Given the description of an element on the screen output the (x, y) to click on. 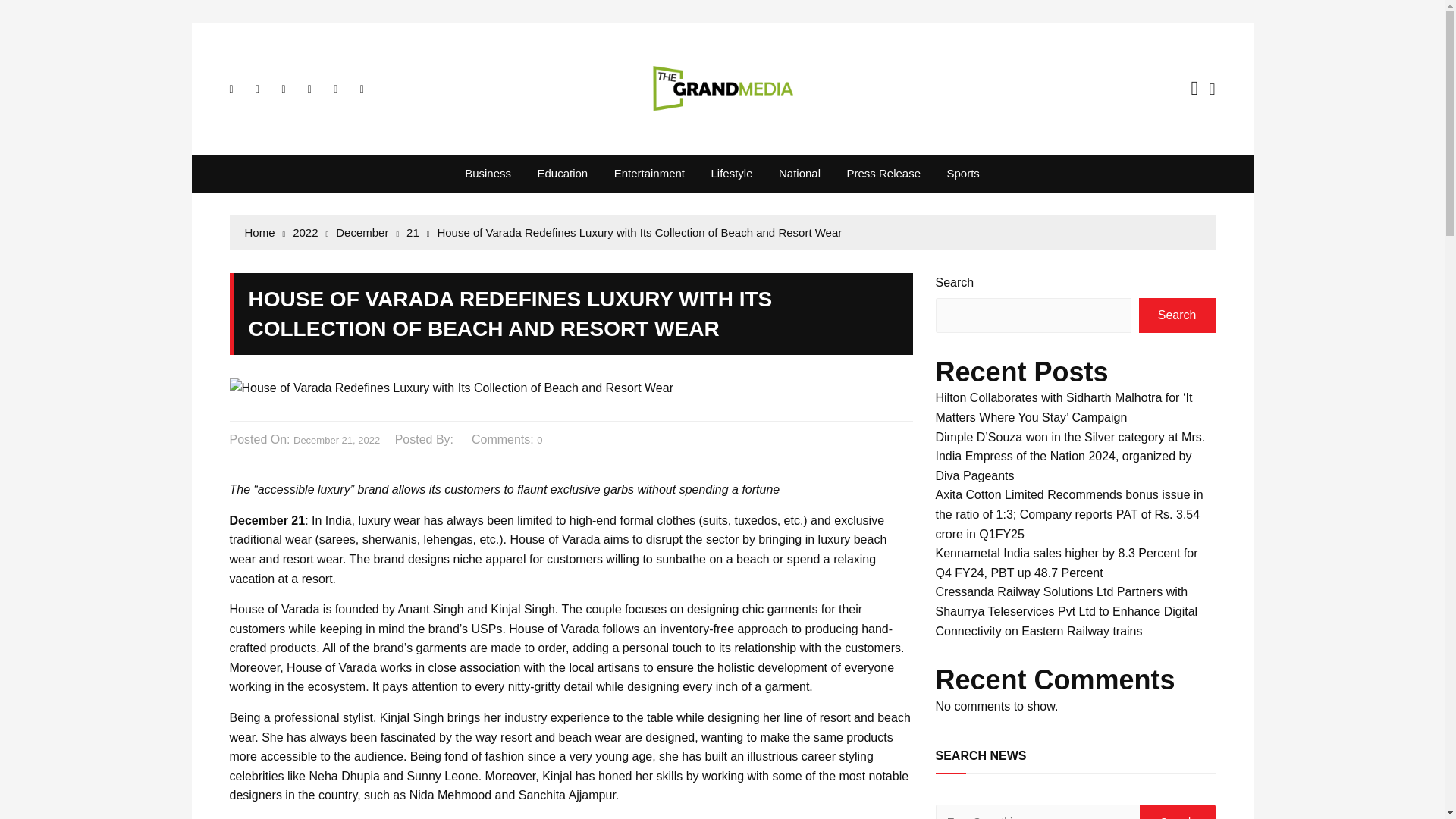
Sports (962, 173)
Press Release (882, 173)
Business (487, 173)
Entertainment (648, 173)
Lifestyle (730, 173)
Search (1176, 811)
National (799, 173)
Education (561, 173)
